Given the description of an element on the screen output the (x, y) to click on. 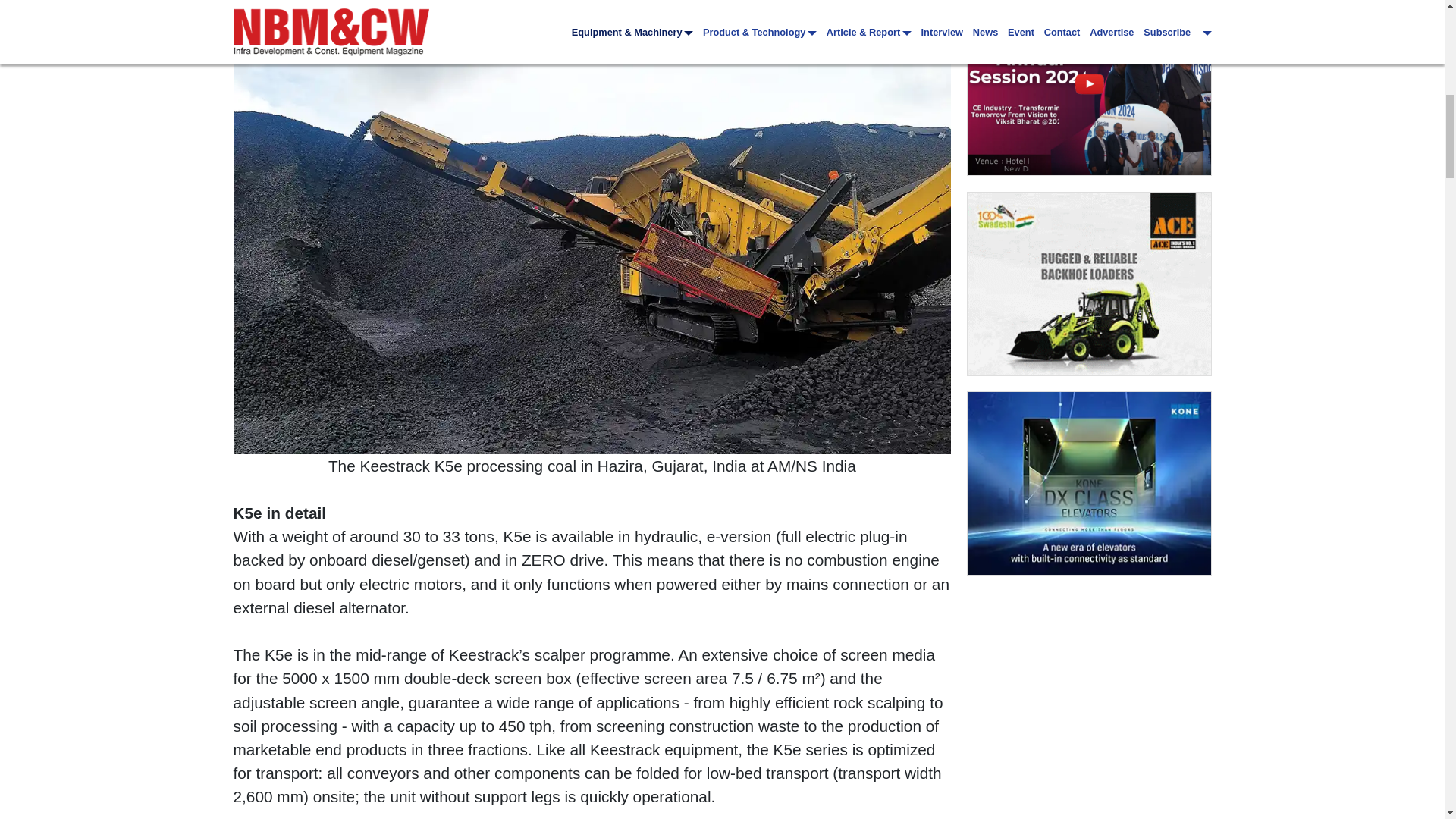
ACE - India's No. 1 CRANE BRAND (1089, 283)
